Given the description of an element on the screen output the (x, y) to click on. 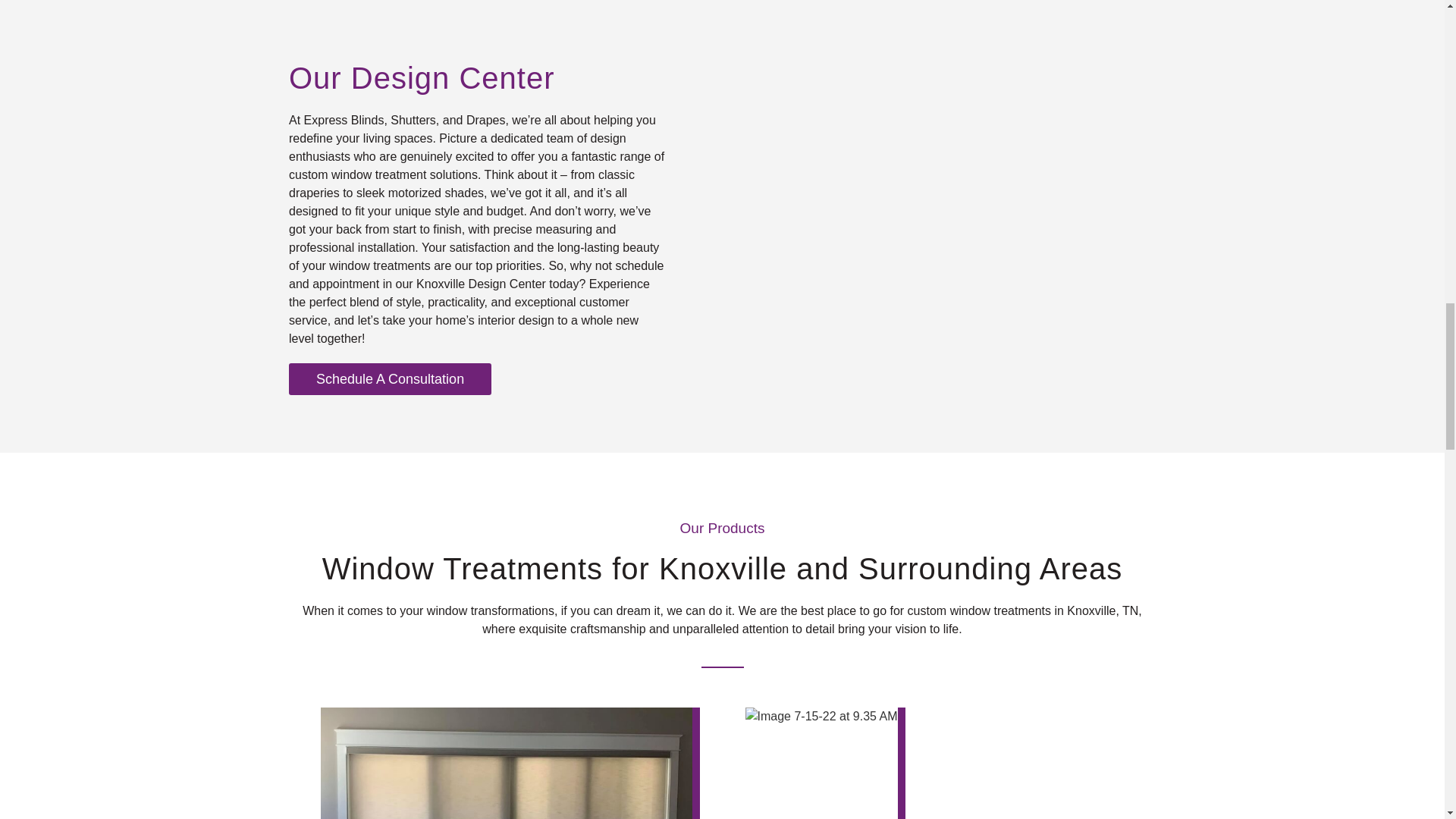
Image 7-15-22 at 9.35 AM (824, 763)
Home 1 (509, 763)
